Given the description of an element on the screen output the (x, y) to click on. 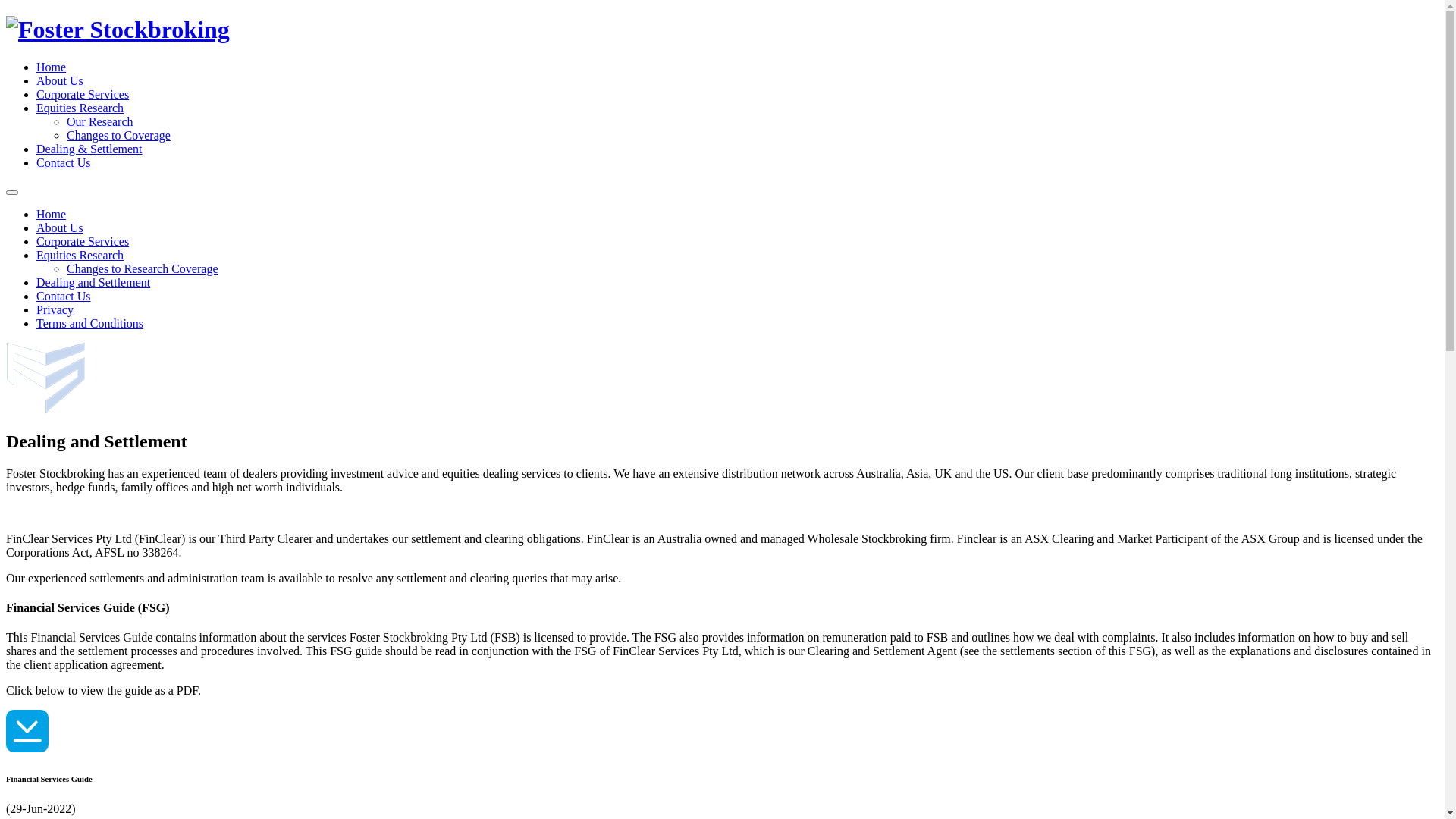
Changes to Research Coverage Element type: text (141, 268)
Home Element type: text (50, 66)
About Us Element type: text (59, 80)
Terms and Conditions Element type: text (89, 322)
Our Research Element type: text (99, 121)
Equities Research Element type: text (79, 107)
Privacy Element type: text (54, 309)
Contact Us Element type: text (63, 162)
Corporate Services Element type: text (82, 241)
Equities Research Element type: text (79, 254)
Contact Us Element type: text (63, 295)
Dealing and Settlement Element type: text (93, 282)
Dealing & Settlement Element type: text (89, 148)
Home Element type: text (50, 213)
Changes to Coverage Element type: text (118, 134)
Corporate Services Element type: text (82, 93)
About Us Element type: text (59, 227)
